Given the description of an element on the screen output the (x, y) to click on. 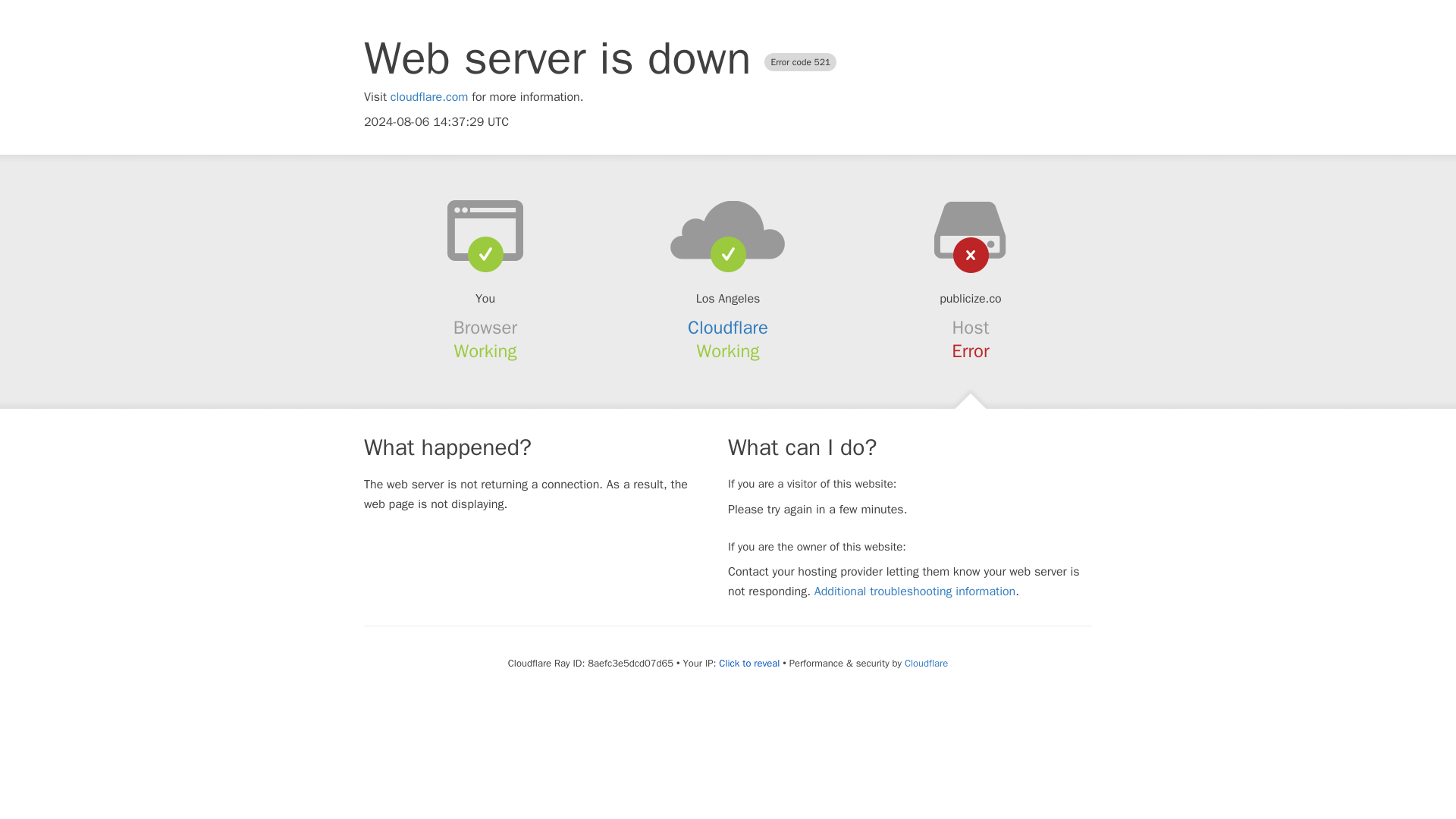
cloudflare.com (429, 96)
Cloudflare (727, 327)
Cloudflare (925, 662)
Click to reveal (748, 663)
Additional troubleshooting information (913, 590)
